Given the description of an element on the screen output the (x, y) to click on. 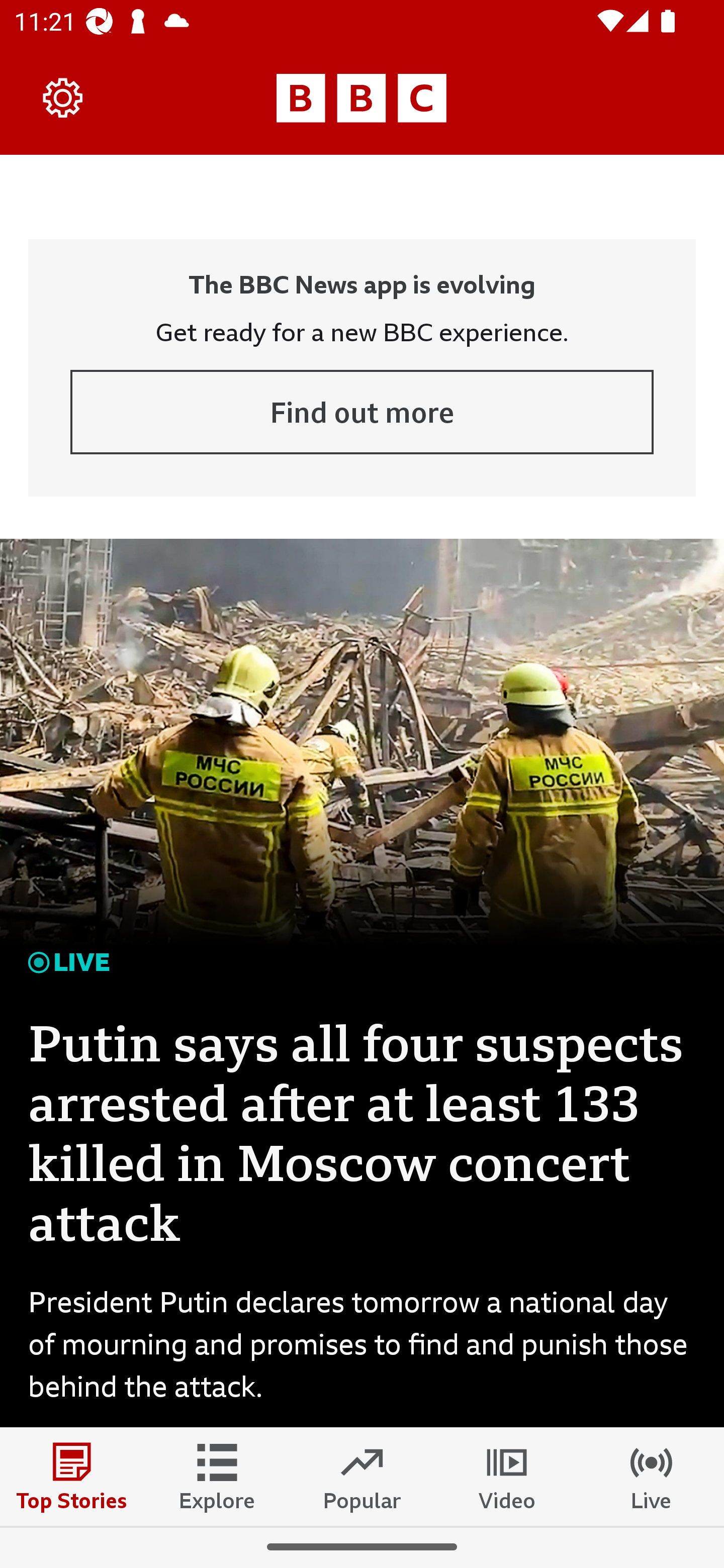
Settings (63, 97)
Find out more (361, 412)
Explore (216, 1475)
Popular (361, 1475)
Video (506, 1475)
Live (651, 1475)
